Given the description of an element on the screen output the (x, y) to click on. 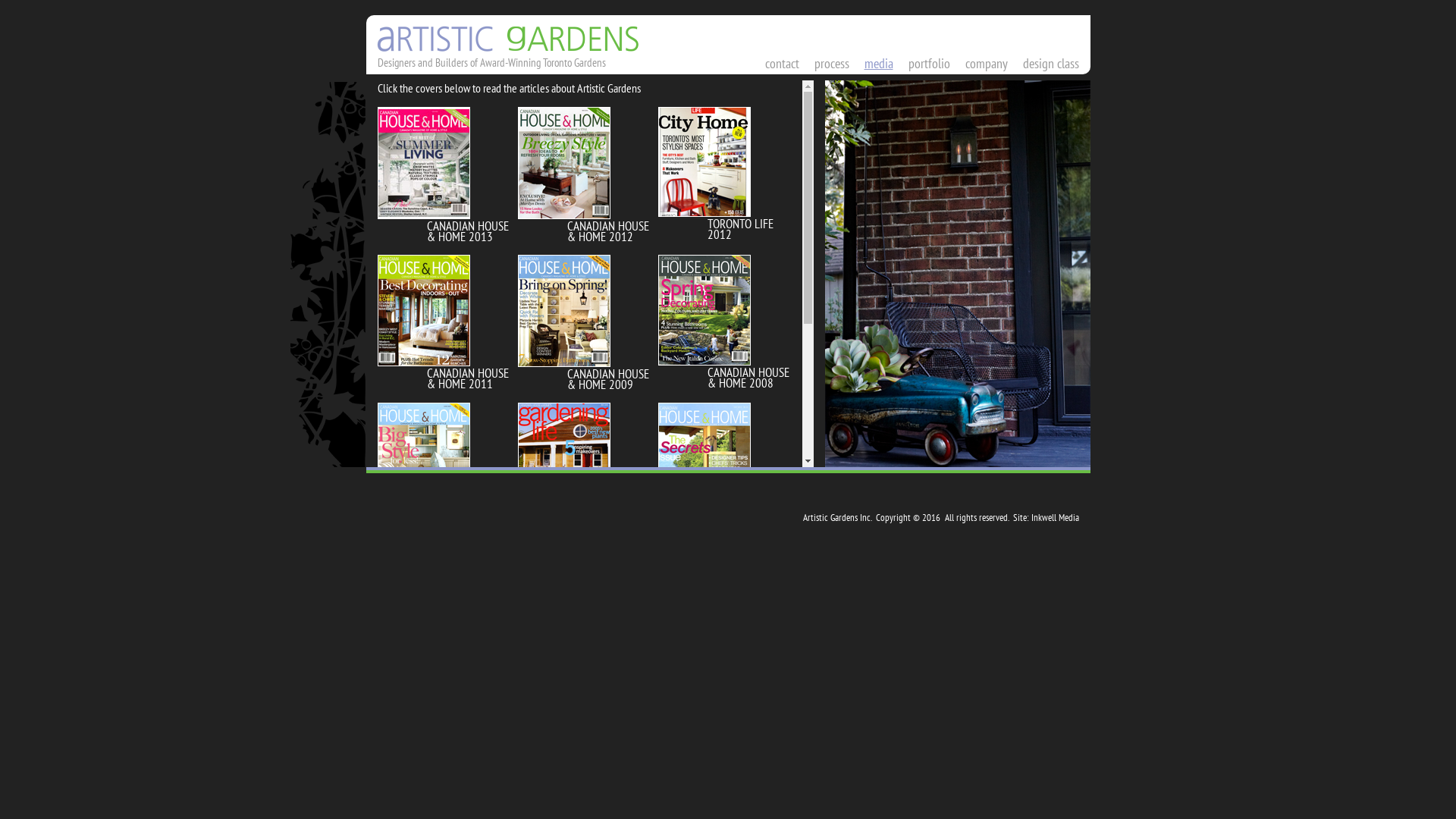
design class Element type: text (1050, 63)
Inkwell Media Element type: text (1055, 517)
company Element type: text (985, 63)
process Element type: text (831, 63)
portfolio Element type: text (929, 63)
media Element type: text (878, 63)
contact Element type: text (781, 63)
